Given the description of an element on the screen output the (x, y) to click on. 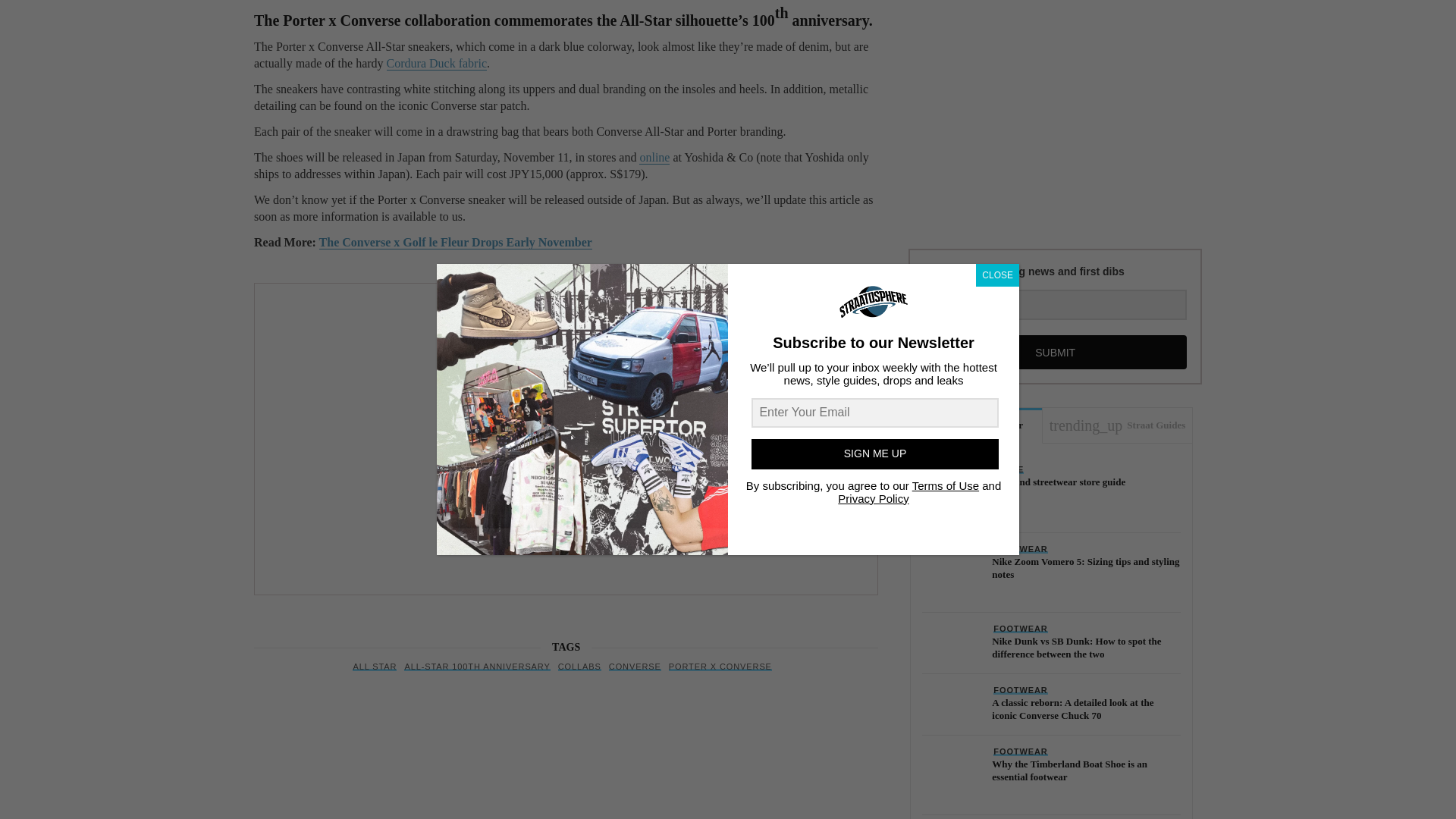
Advertisement (1051, 112)
